Given the description of an element on the screen output the (x, y) to click on. 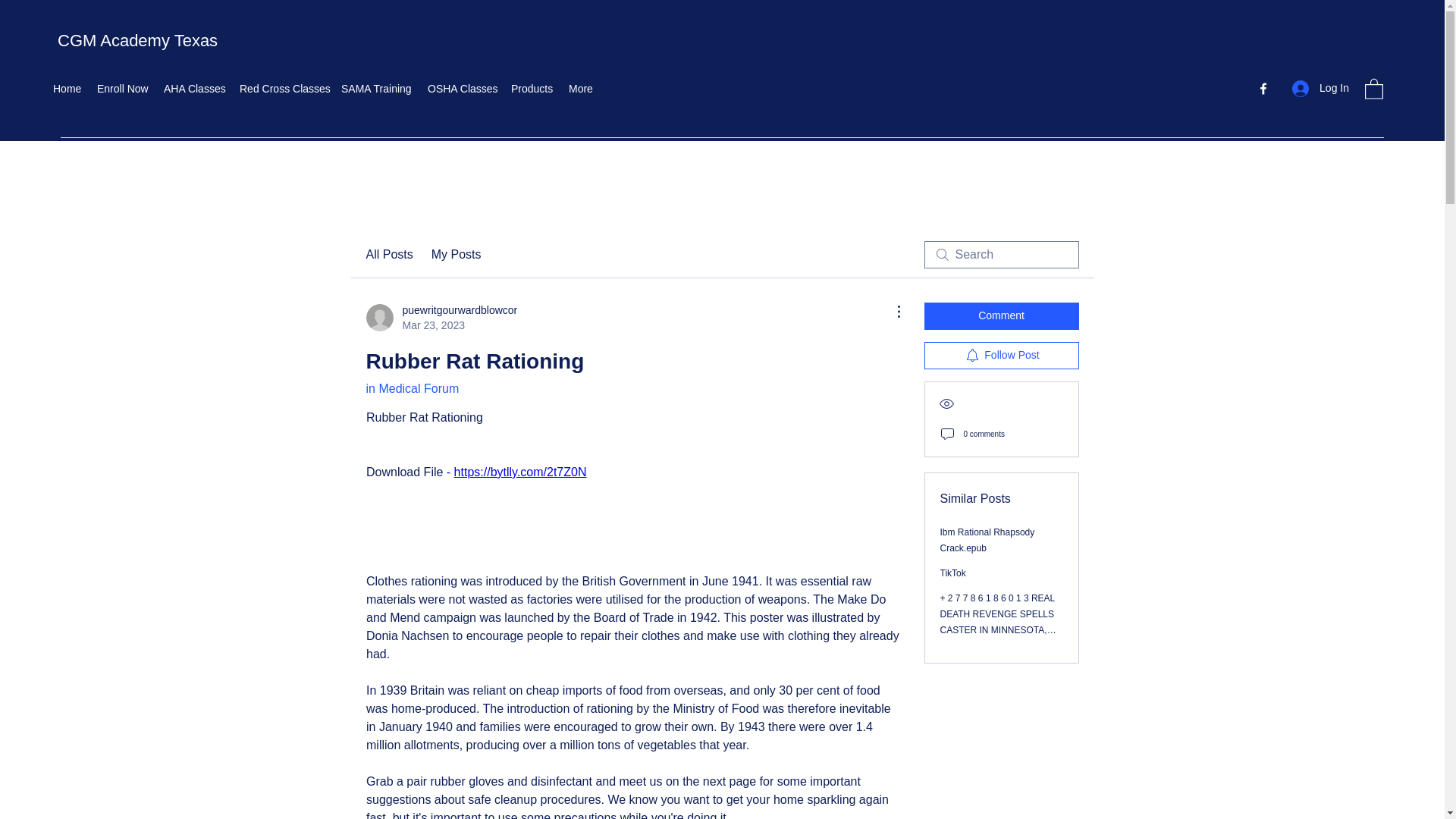
Home (66, 87)
AHA Classes (193, 87)
CGM Academy Texas (137, 40)
My Posts (440, 317)
in Medical Forum (455, 254)
Comment (411, 388)
Follow Post (1000, 316)
SAMA Training (1000, 355)
Products (376, 87)
Log In (531, 87)
Enroll Now (1320, 88)
Red Cross Classes (121, 87)
Ibm Rational Rhapsody Crack.epub (282, 87)
TikTok (987, 540)
